Given the description of an element on the screen output the (x, y) to click on. 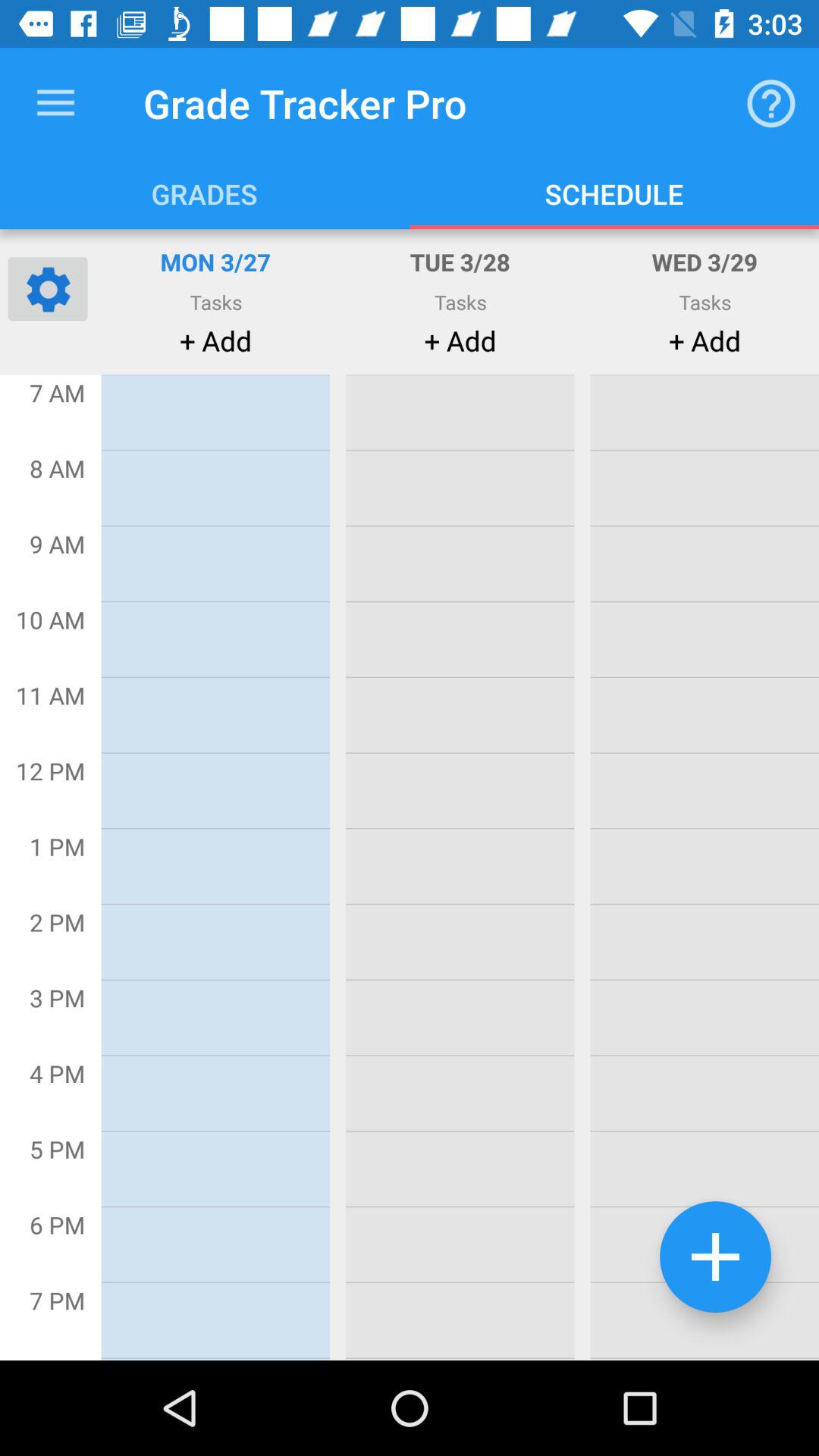
open settings (47, 288)
